Given the description of an element on the screen output the (x, y) to click on. 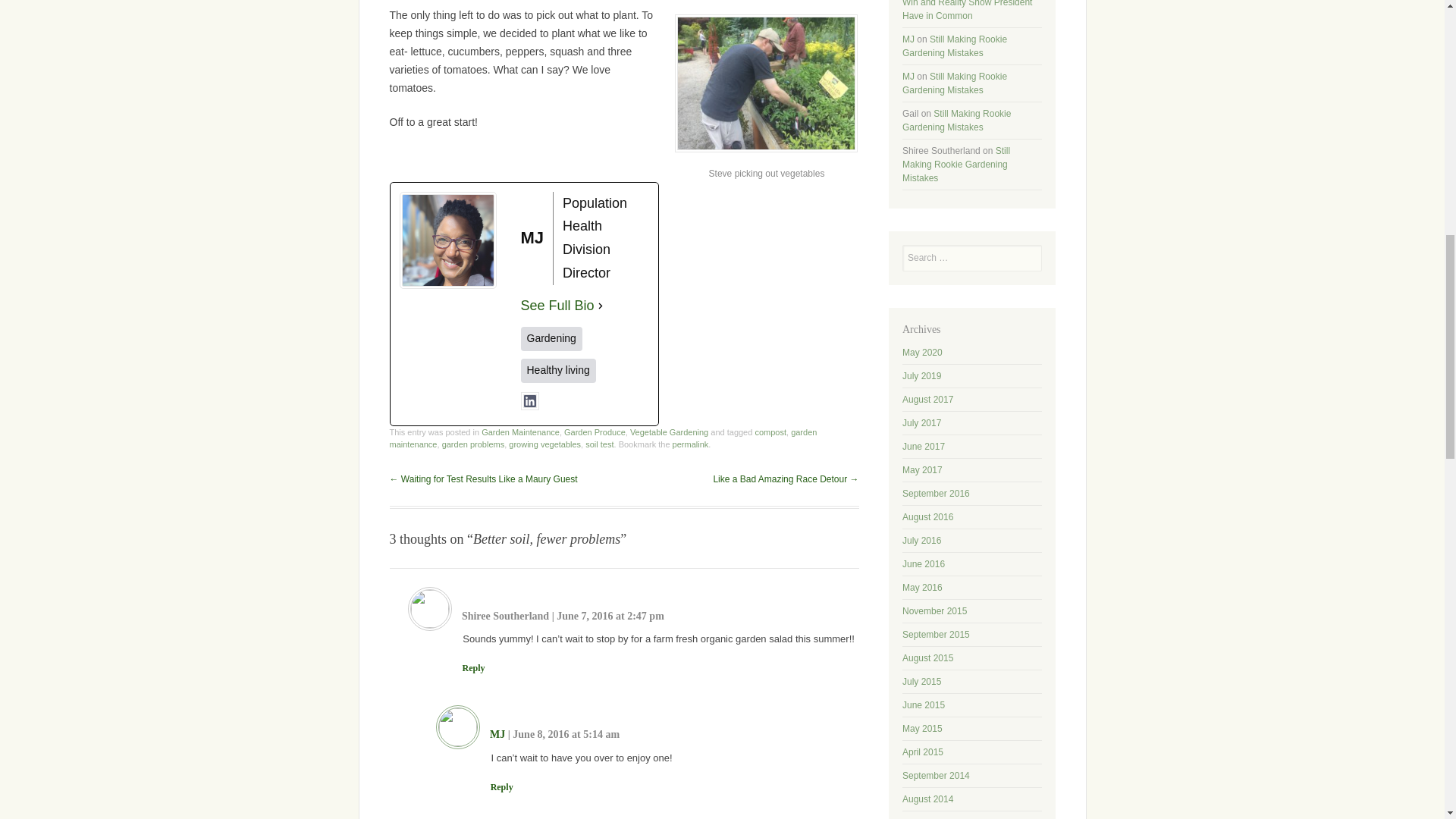
June 7, 2016 at 2:47 pm (609, 615)
Reply (473, 667)
Vegetable Gardening (668, 431)
permalink (690, 443)
garden problems (473, 443)
Garden Maintenance (520, 431)
Reply (501, 786)
compost (770, 431)
MJ (497, 734)
June 8, 2016 at 5:14 am (566, 734)
